Given the description of an element on the screen output the (x, y) to click on. 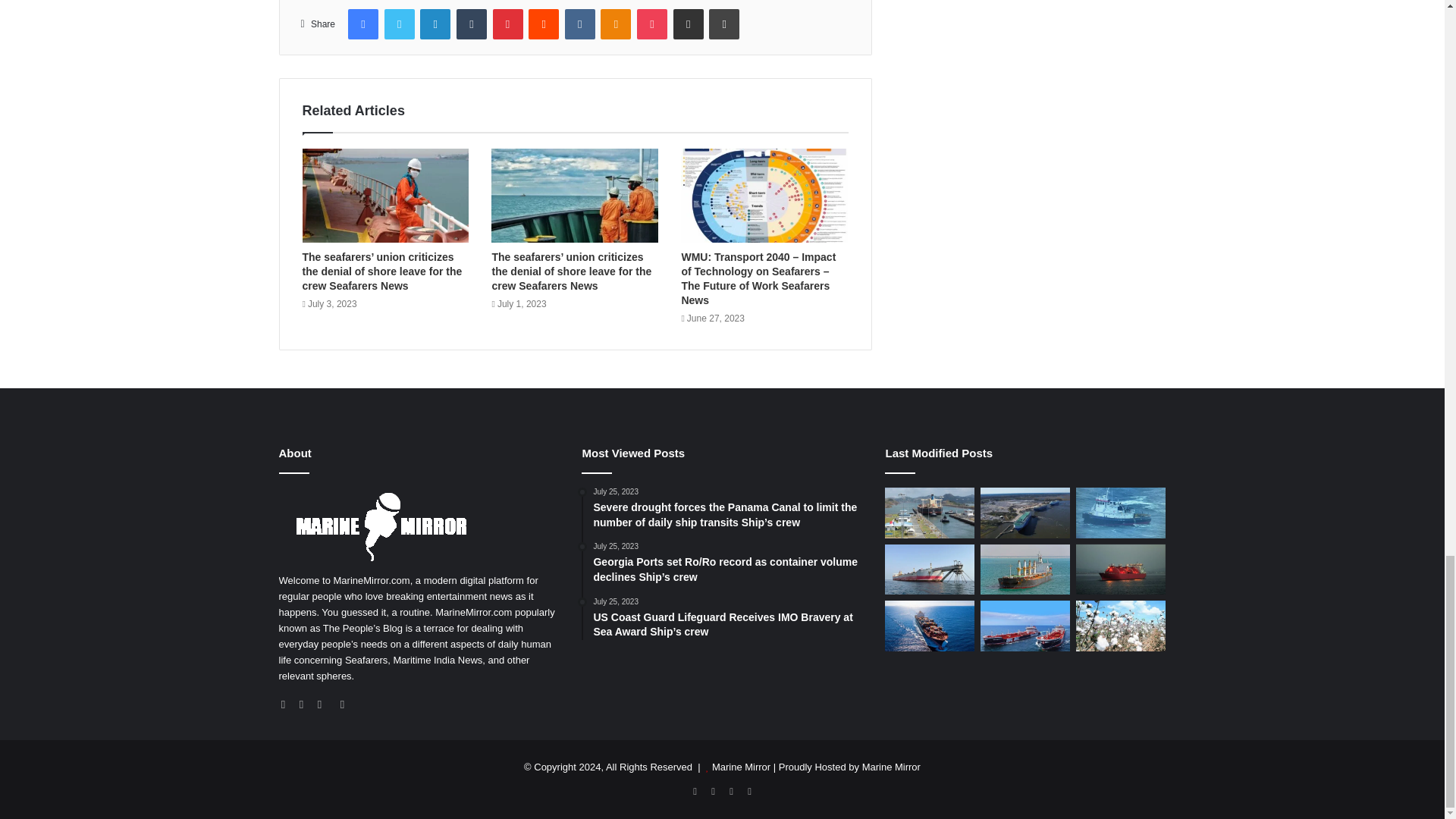
VKontakte (579, 24)
Share via Email (687, 24)
Print (724, 24)
Tumblr (471, 24)
Odnoklassniki (614, 24)
Facebook (362, 24)
Reddit (543, 24)
Pinterest (507, 24)
Pocket (651, 24)
Twitter (399, 24)
LinkedIn (434, 24)
